Given the description of an element on the screen output the (x, y) to click on. 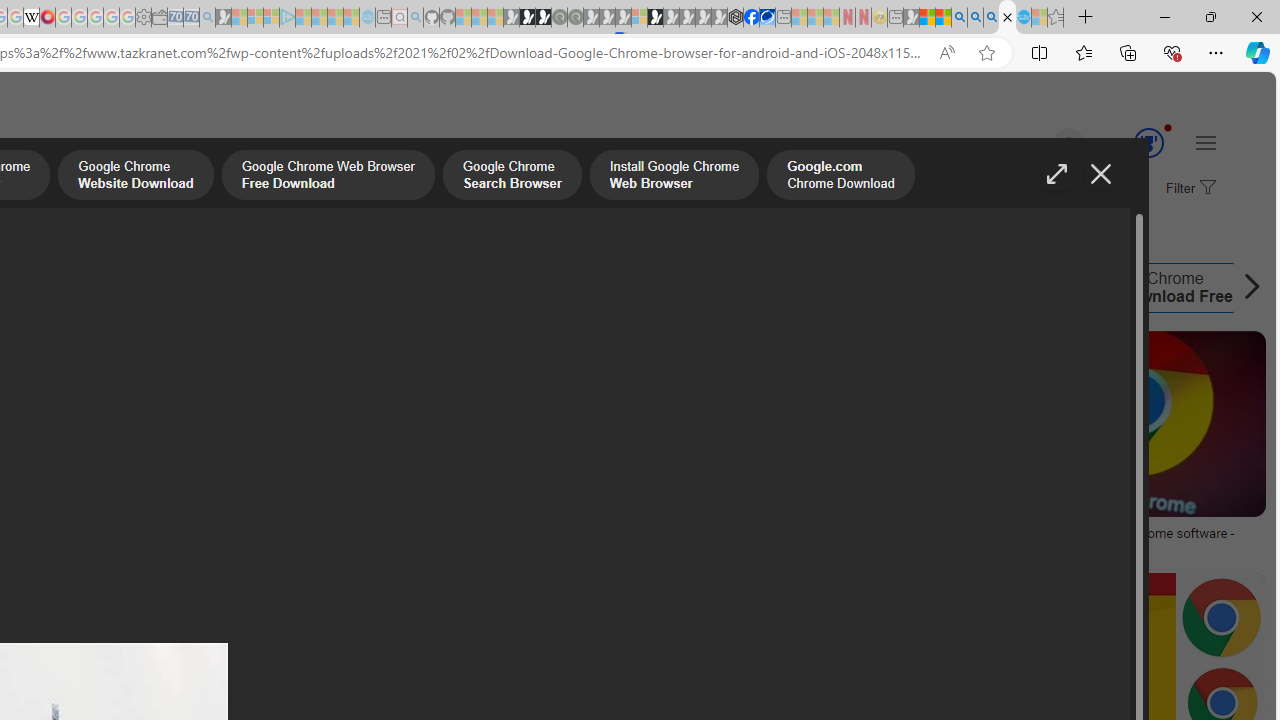
Favorites (1083, 52)
How to download & install Chrome on Windows 10 /11 (475, 533)
Wallet - Sleeping (159, 17)
Filter (1188, 189)
Eugene (1041, 143)
Google Chrome Search Browser (511, 177)
How to download & install Chrome on Windows 10 /11Save (478, 448)
Scroll right (1246, 287)
Close image (1100, 173)
Play Zoo Boom in your browser | Games from Microsoft Start (527, 17)
Google Chrome UK Download Free (1145, 287)
